Given the description of an element on the screen output the (x, y) to click on. 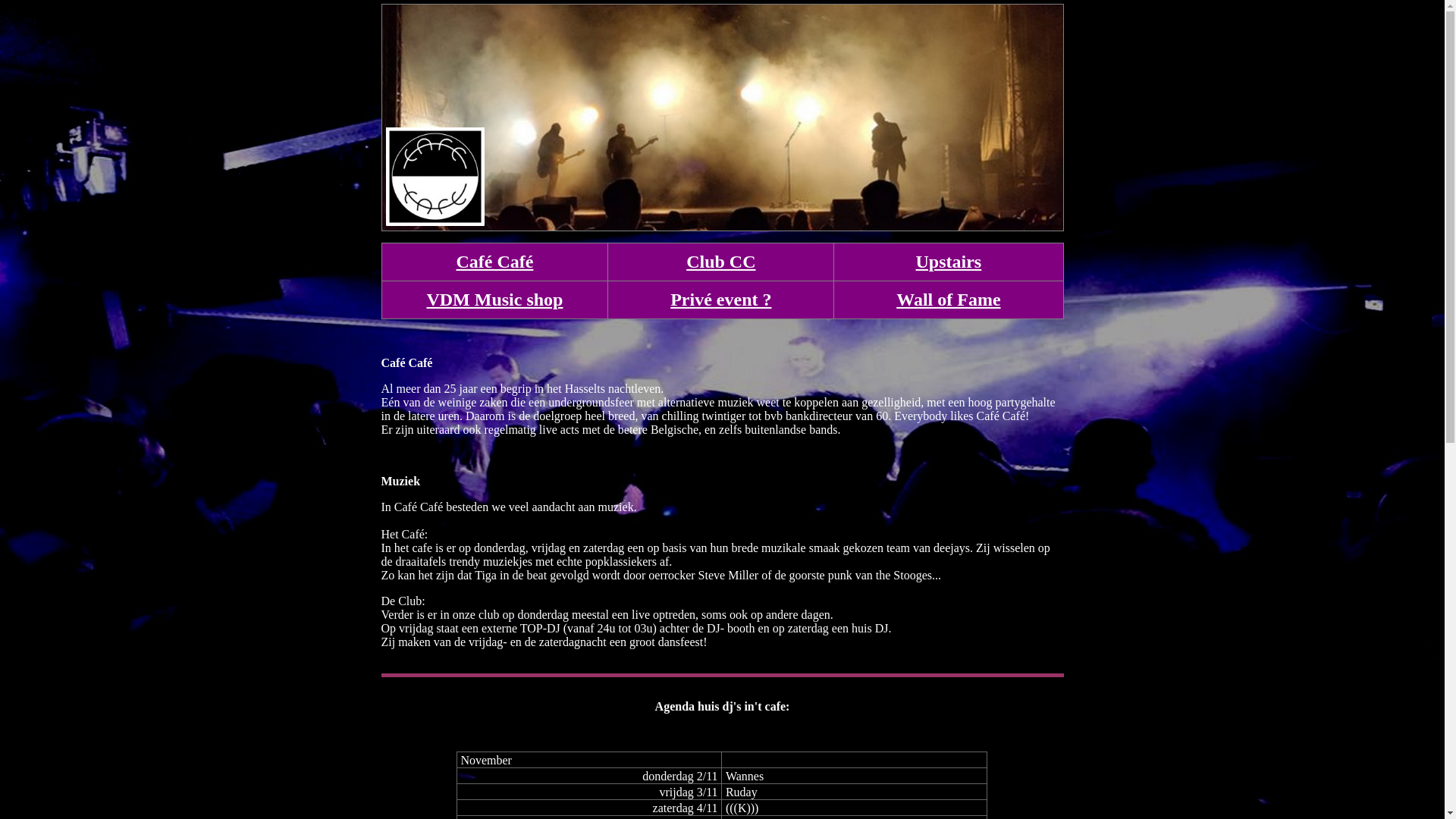
Wall of Fame Element type: text (948, 299)
Upstairs Element type: text (949, 261)
VDM Music shop Element type: text (494, 299)
Club CC Element type: text (720, 261)
